Given the description of an element on the screen output the (x, y) to click on. 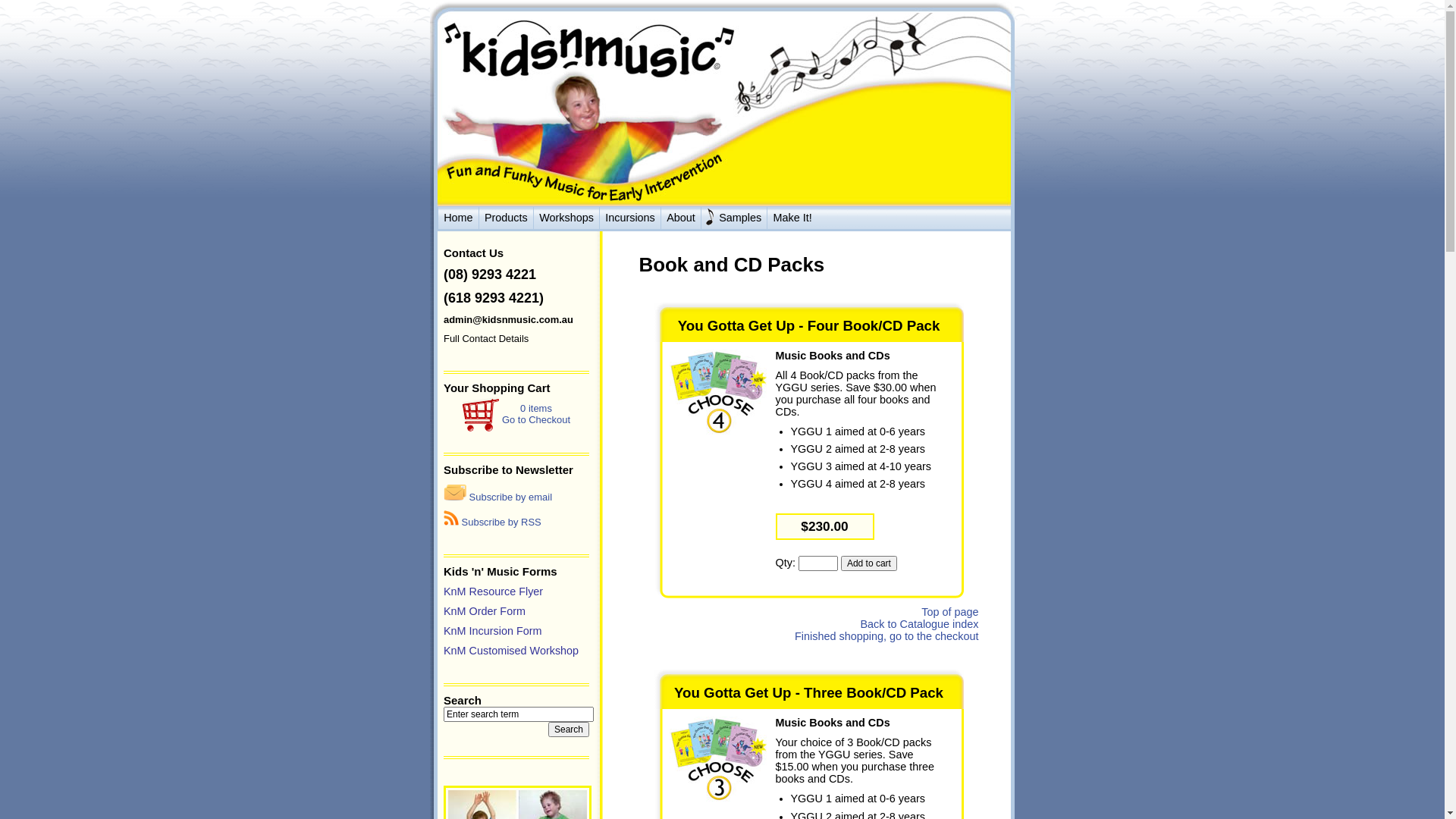
Full Contact Details Element type: text (485, 338)
0 items
Go to Checkout Element type: text (536, 413)
Products Element type: text (506, 218)
Home Element type: text (458, 218)
KnM Incursion Form Element type: text (492, 630)
About Element type: text (680, 218)
Samples Element type: text (733, 218)
Incursions Element type: text (629, 218)
Top of page Element type: text (949, 611)
KnM Customised Workshop Element type: text (510, 650)
Finished shopping, go to the checkout Element type: text (886, 636)
Subscribe by RSS Element type: text (492, 521)
Subscribe by email Element type: text (497, 496)
Search Element type: text (568, 729)
KnM Resource Flyer Element type: text (492, 591)
KnM Order Form Element type: text (484, 611)
Workshops Element type: text (566, 218)
admin@kidsnmusic.com.au Element type: text (508, 319)
Add to cart Element type: text (868, 563)
Make It! Element type: text (792, 218)
Back to Catalogue index Element type: text (918, 624)
